Given the description of an element on the screen output the (x, y) to click on. 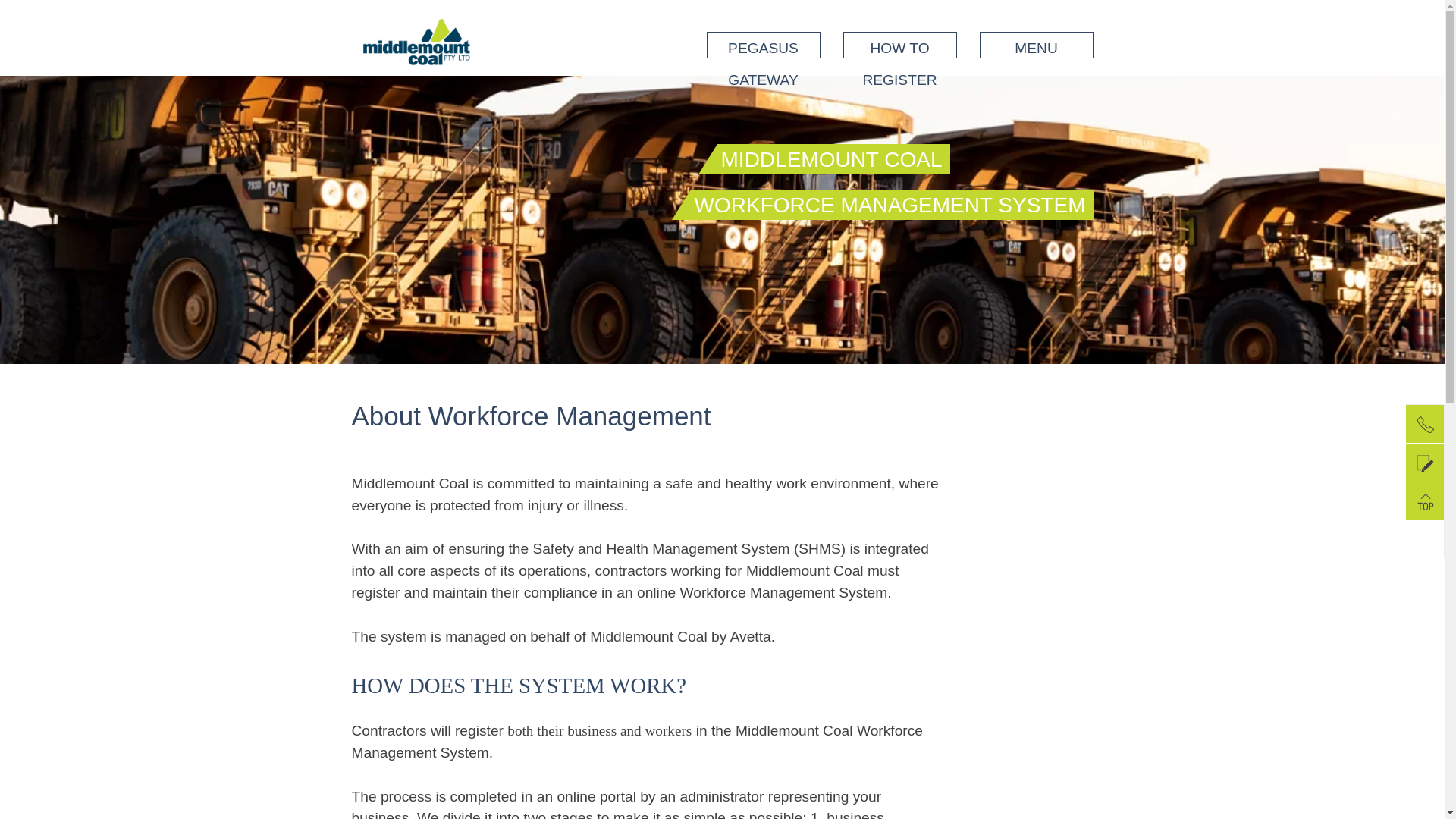
PEGASUS GATEWAY Element type: text (763, 44)
Middlemount Contractors Element type: text (416, 54)
MENU Element type: text (1036, 44)
HOW TO REGISTER Element type: text (900, 44)
